Given the description of an element on the screen output the (x, y) to click on. 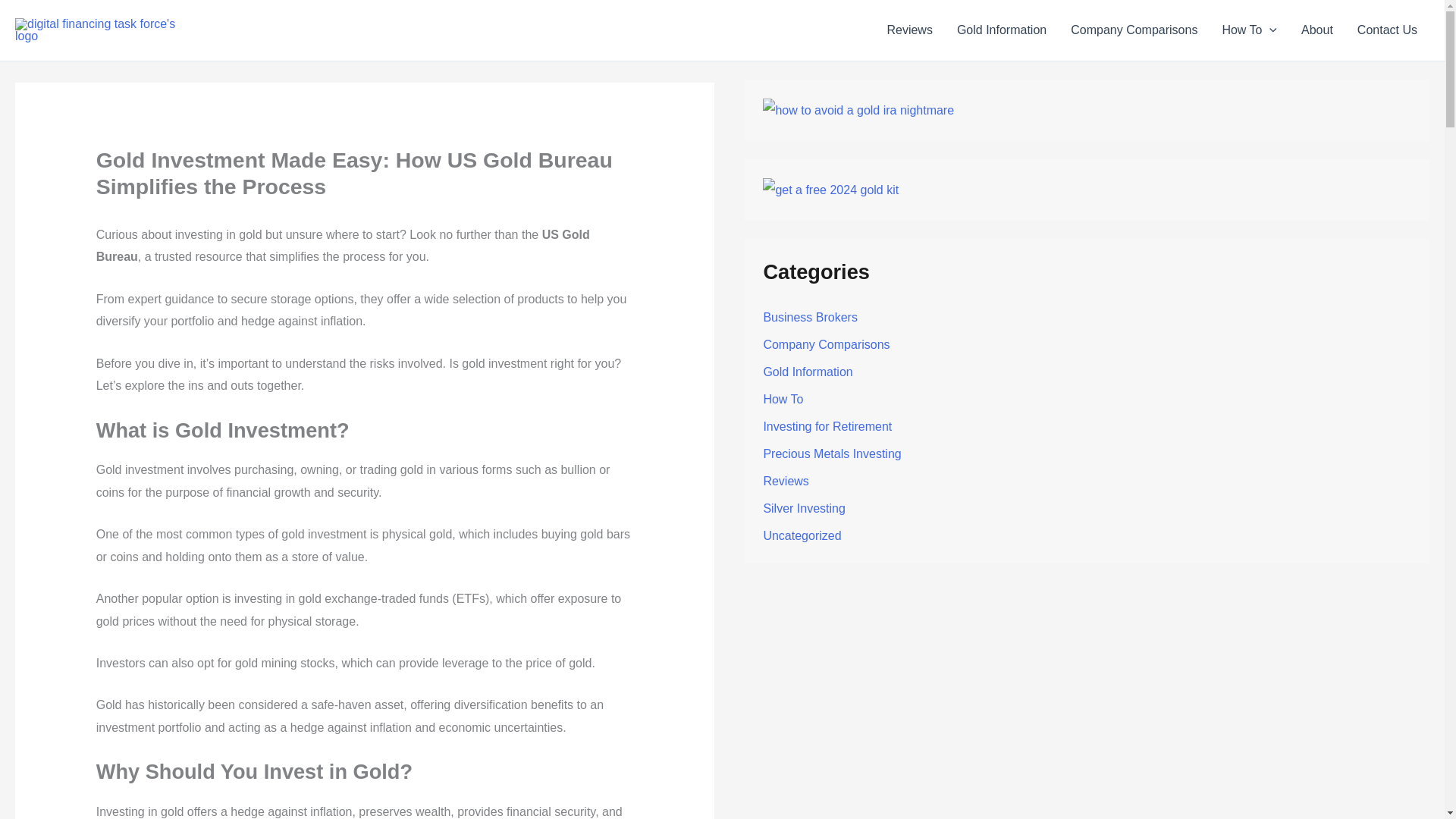
Company Comparisons (825, 344)
How To (1248, 30)
Company Comparisons (1133, 30)
Gold Information (1001, 30)
Contact Us (1387, 30)
About (1316, 30)
Gold Information (806, 371)
Reviews (909, 30)
Business Brokers (809, 317)
